Given the description of an element on the screen output the (x, y) to click on. 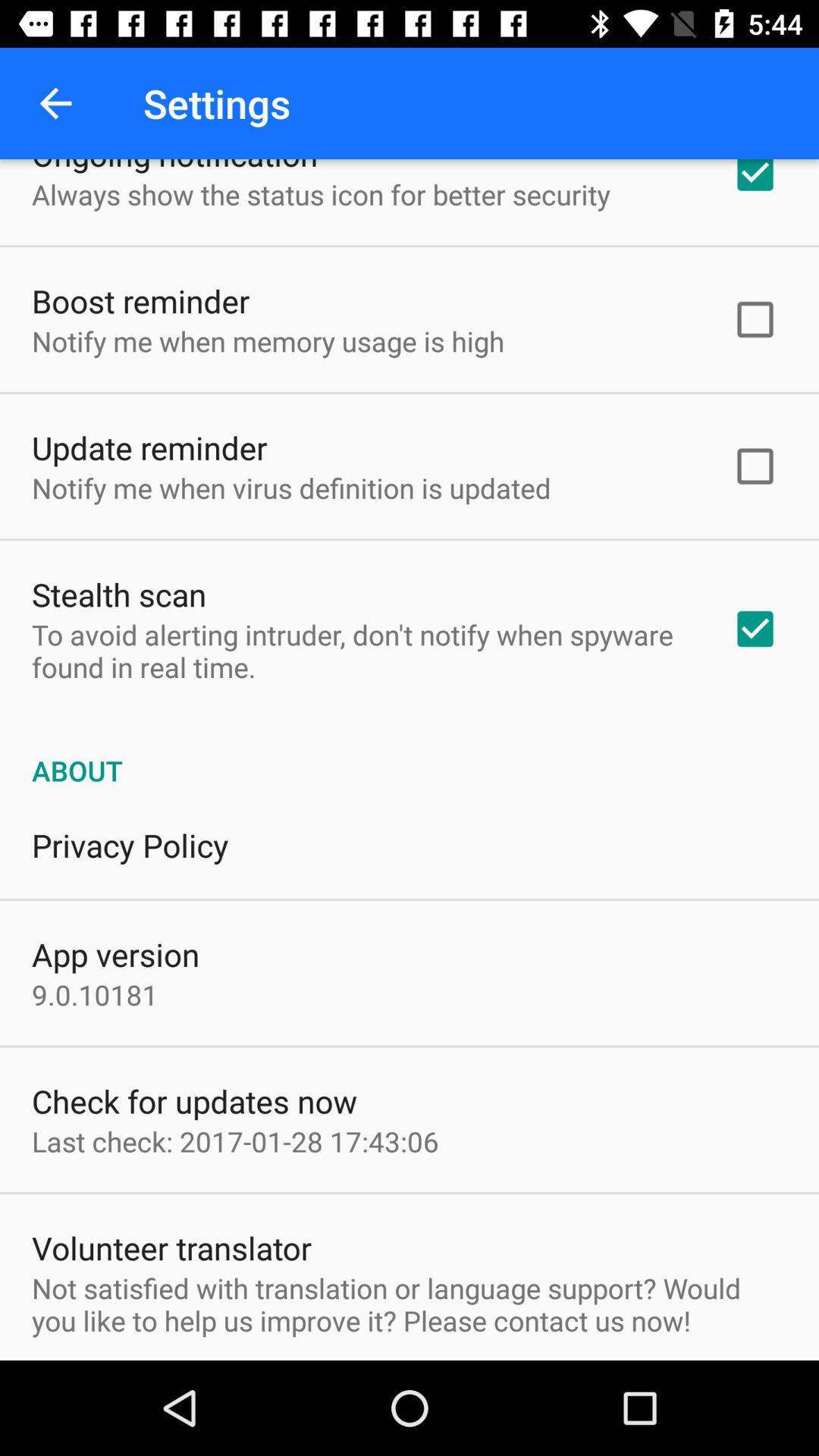
choose icon above 9.0.10181 icon (115, 953)
